Given the description of an element on the screen output the (x, y) to click on. 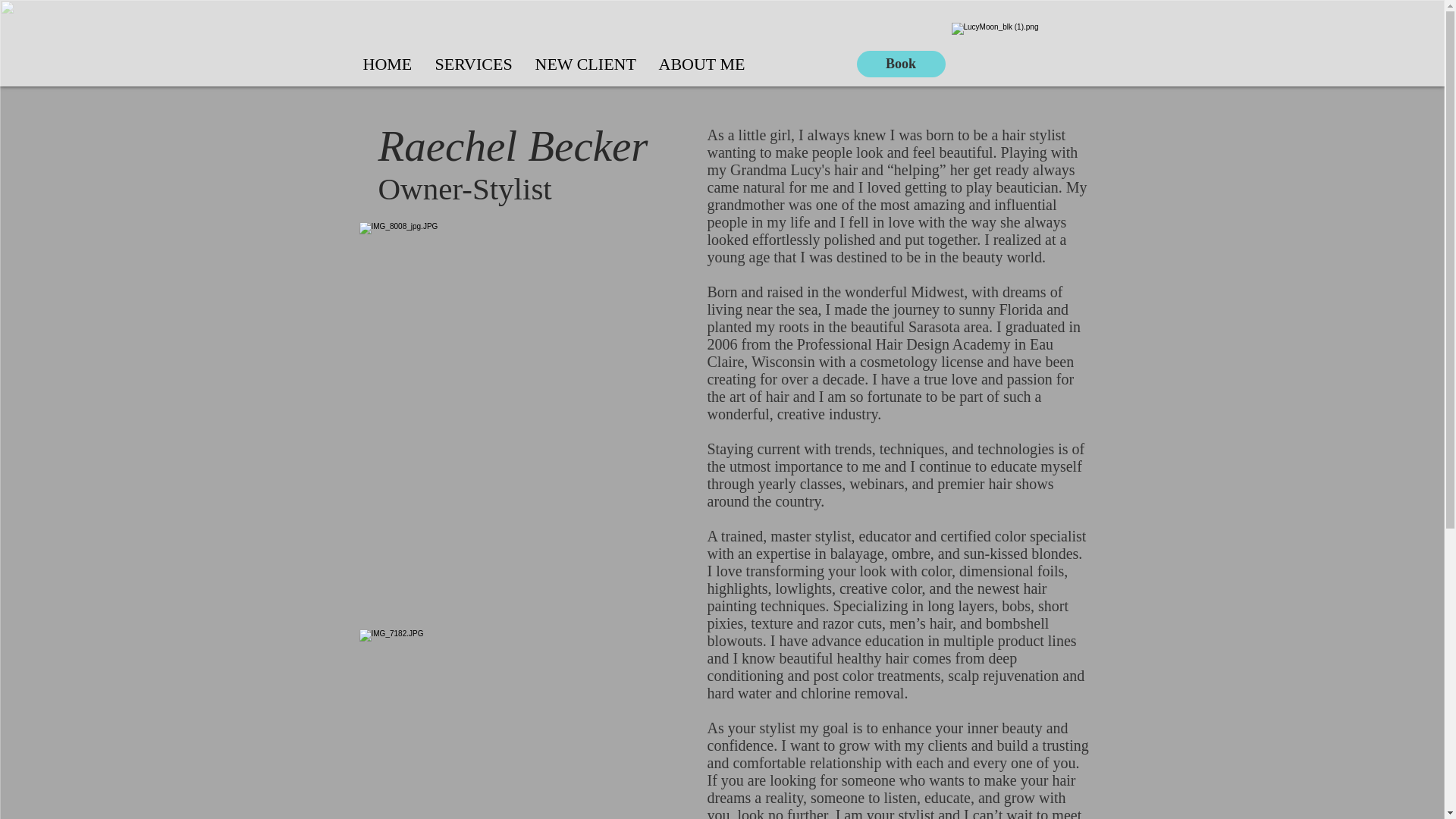
SERVICES (472, 64)
HOME (387, 64)
NEW CLIENT (584, 64)
ABOUT ME (702, 64)
Book (900, 63)
